Given the description of an element on the screen output the (x, y) to click on. 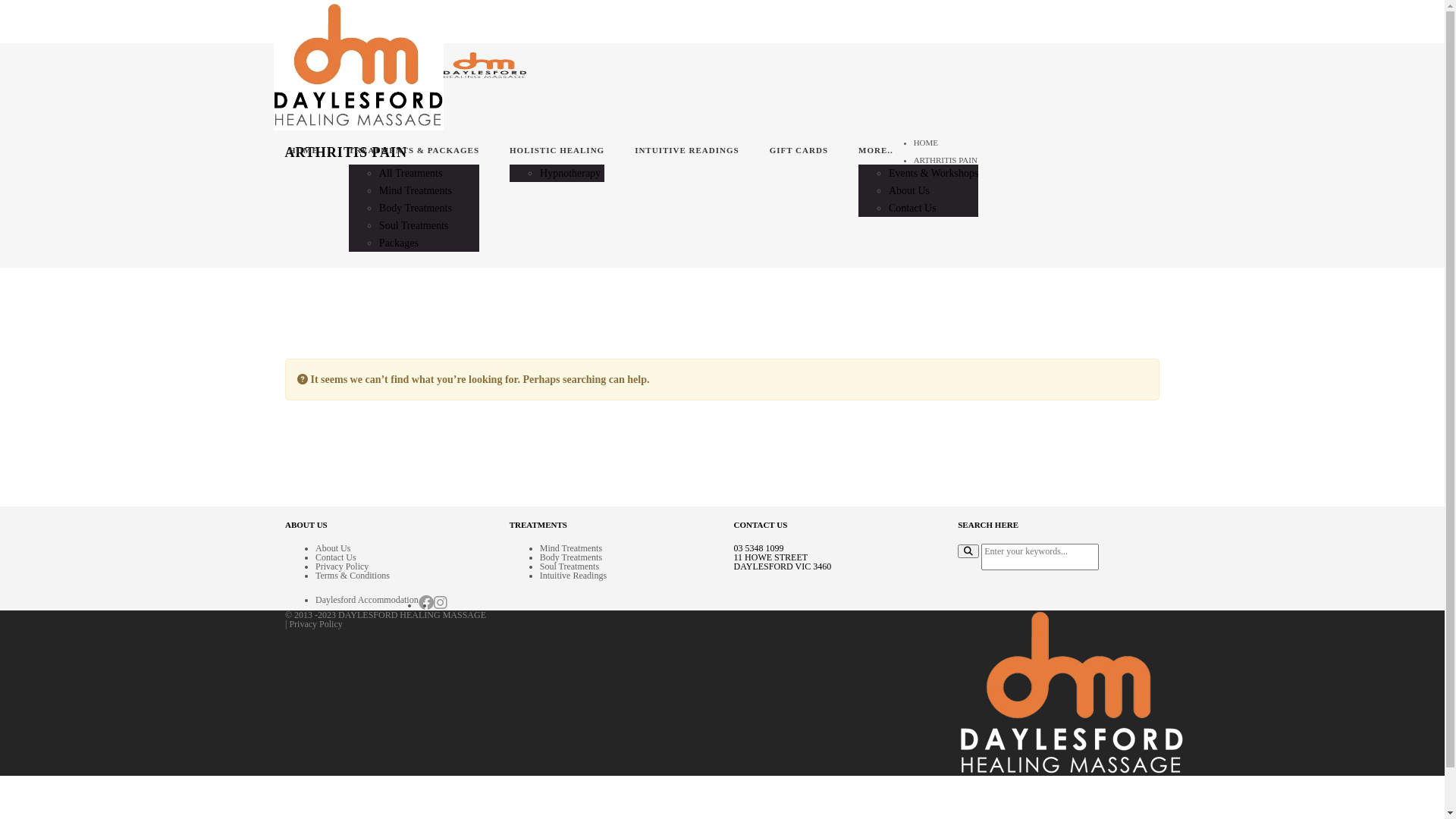
HOME Element type: text (303, 151)
HOLISTIC HEALING Element type: text (556, 151)
Soul Treatments Element type: text (413, 225)
TREATMENTS & PACKAGES Element type: text (413, 151)
Privacy Policy Element type: text (341, 566)
Contact Us Element type: text (335, 557)
11 HOWE STREET
DAYLESFORD VIC 3460 Element type: text (782, 561)
GIFT CARDS Element type: text (798, 151)
03 5348 1099 Element type: text (759, 547)
Body Treatments Element type: text (570, 557)
Contact Us Element type: text (912, 207)
Daylesford Accommodation Element type: text (366, 599)
Mind Treatments Element type: text (570, 547)
Soul Treatments Element type: text (569, 566)
All Treatments Element type: text (410, 172)
HOME Element type: text (925, 142)
Intuitive Readings Element type: text (572, 575)
Terms & Conditions Element type: text (352, 575)
MORE.. Element type: text (918, 151)
Packages Element type: text (398, 242)
About Us Element type: text (332, 547)
INTUITIVE READINGS Element type: text (686, 151)
Privacy Policy Element type: text (315, 623)
About Us Element type: text (908, 190)
Body Treatments Element type: text (415, 207)
Hypnotherapy Element type: text (569, 172)
Mind Treatments Element type: text (415, 190)
Events & Workshops Element type: text (933, 172)
